Given the description of an element on the screen output the (x, y) to click on. 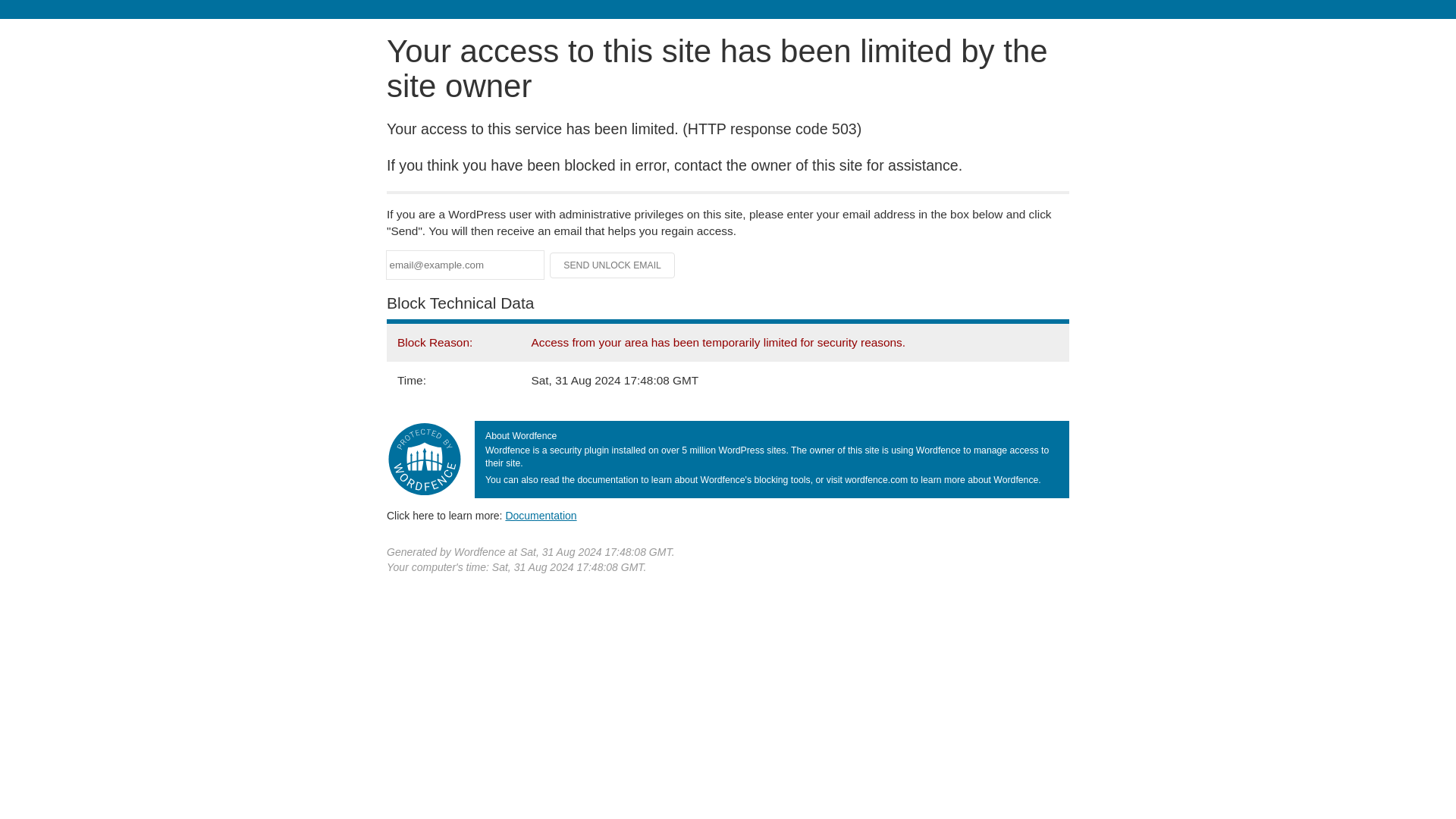
Send Unlock Email (612, 265)
Documentation (540, 515)
Send Unlock Email (612, 265)
